Given the description of an element on the screen output the (x, y) to click on. 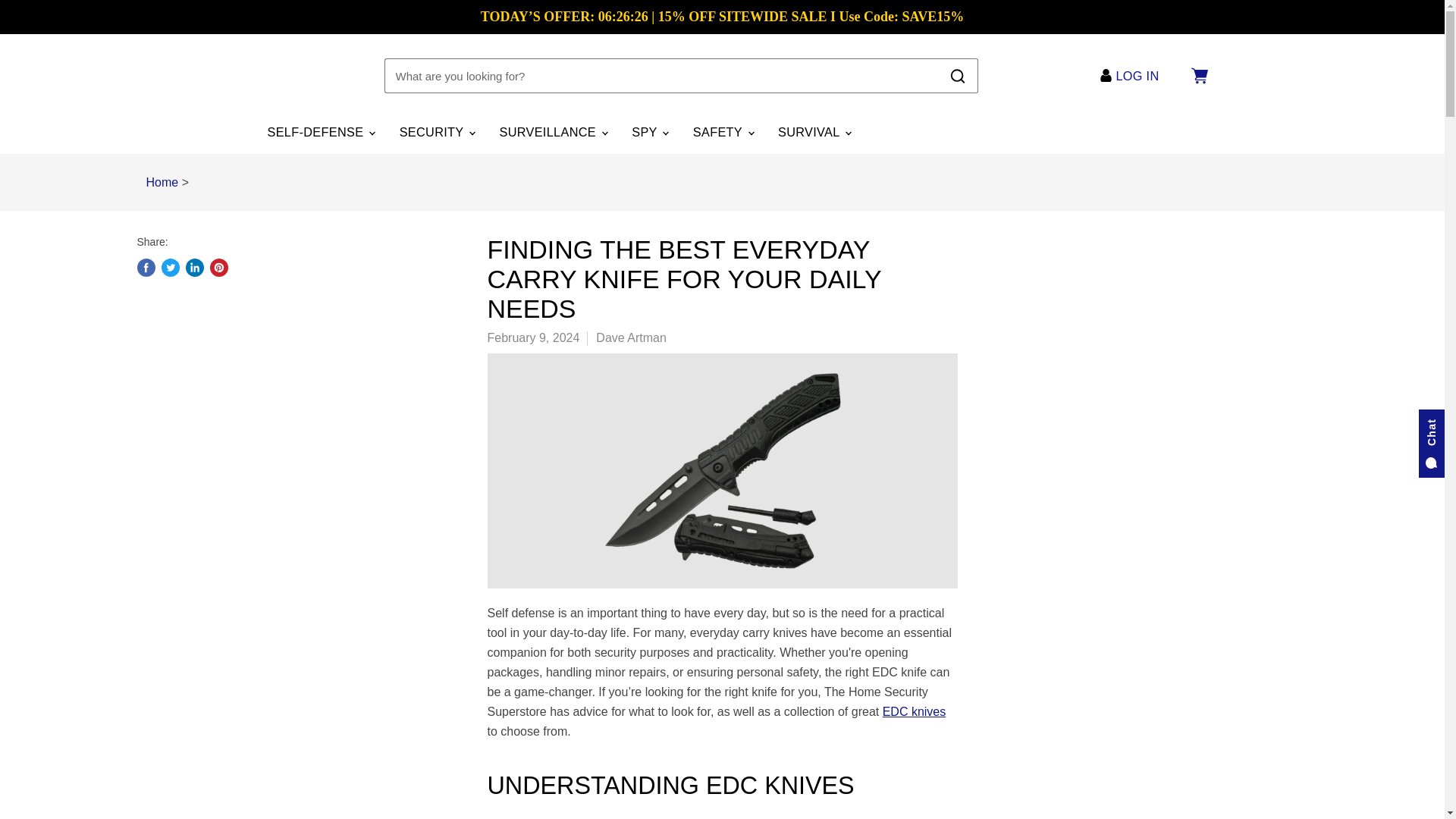
ACCOUNT ICON (1105, 74)
SELF-DEFENSE (320, 132)
View cart (1199, 75)
EDC knives (914, 711)
ACCOUNT ICON LOG IN (1133, 75)
